Given the description of an element on the screen output the (x, y) to click on. 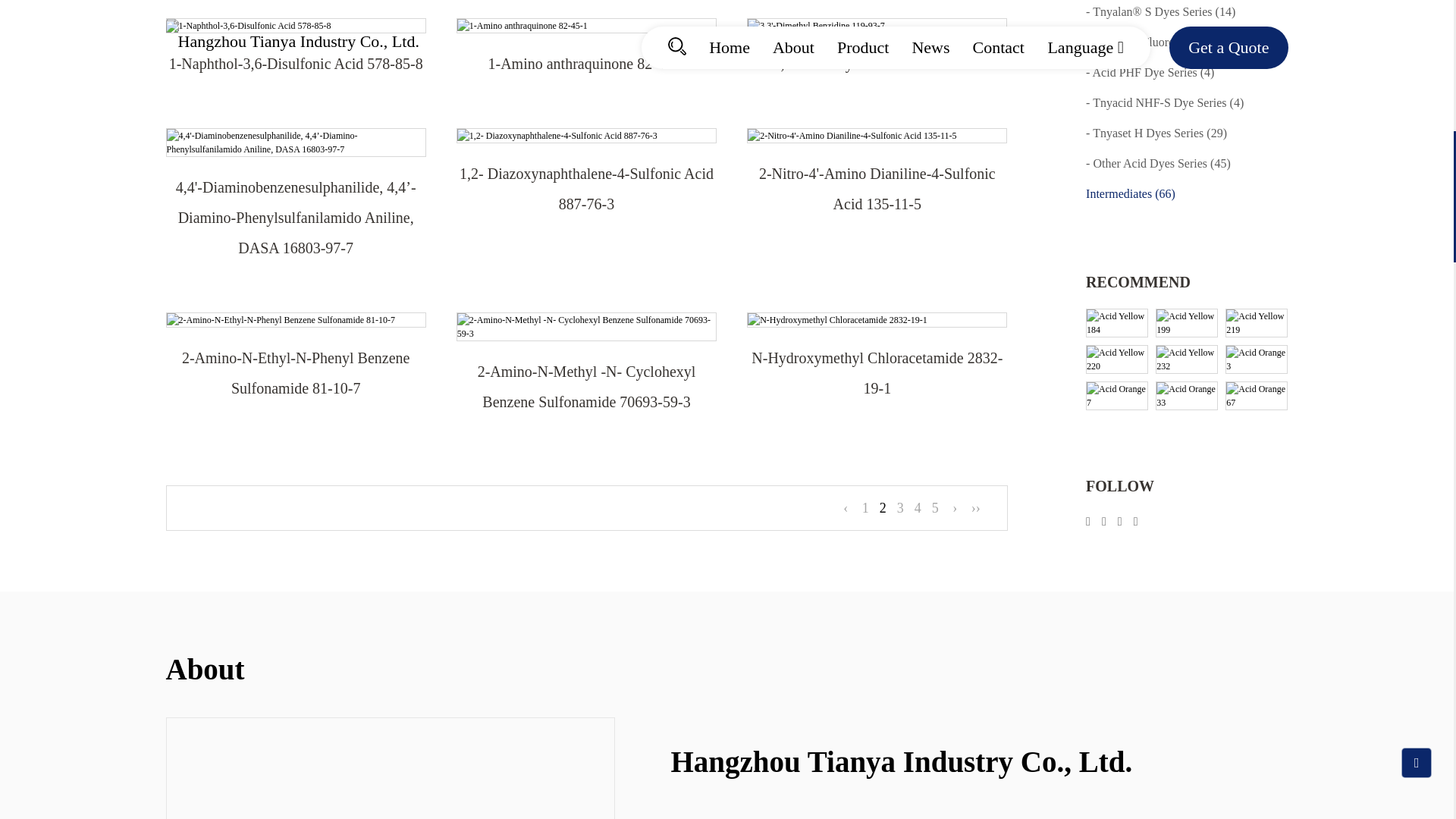
Acid Yellow 199 (1186, 183)
Acid Yellow 232 (1186, 219)
2-Amino-N-Ethyl-N-Phenyl Benzene Sulfonamide 81-10-7 (296, 319)
Acid Orange 33 (1186, 256)
Acid Orange 7 (1117, 256)
N-Hydroxymethyl Chloracetamide 2832-19-1 (877, 319)
Acid Orange 3 (1256, 219)
1-Naphthol-3,6-Disulfonic Acid 578-85-8 (296, 25)
 3,3'-Dimethyl Benzidine 119-93-7 (877, 25)
1-Amino anthraquinone 82-45-1 (586, 25)
Acid Yellow 220 (1117, 219)
Acid Yellow 219 (1256, 183)
 1,2- Diazoxynaphthalene-4-Sulfonic Acid 887-76-3 (586, 135)
 2-Nitro-4'-Amino Dianiline-4-Sulfonic Acid 135-11-5 (877, 135)
